Given the description of an element on the screen output the (x, y) to click on. 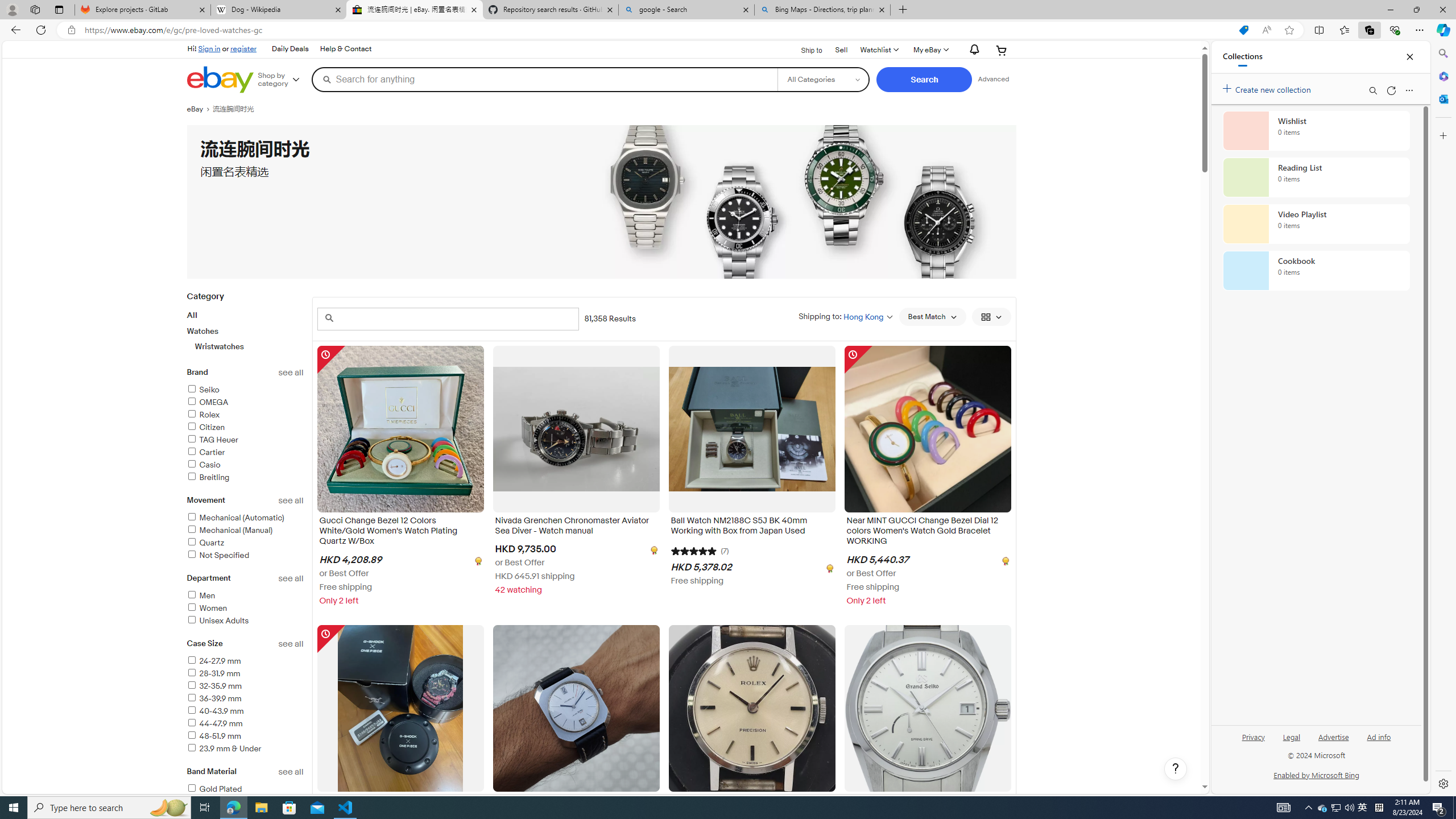
eBay (199, 108)
Women (206, 608)
Seiko (202, 389)
Not Specified (245, 555)
Dog - Wikipedia (277, 9)
Ship to (804, 50)
All (192, 315)
Search for anything (544, 78)
36-39.9 mm (245, 698)
Not Specified (217, 555)
